Given the description of an element on the screen output the (x, y) to click on. 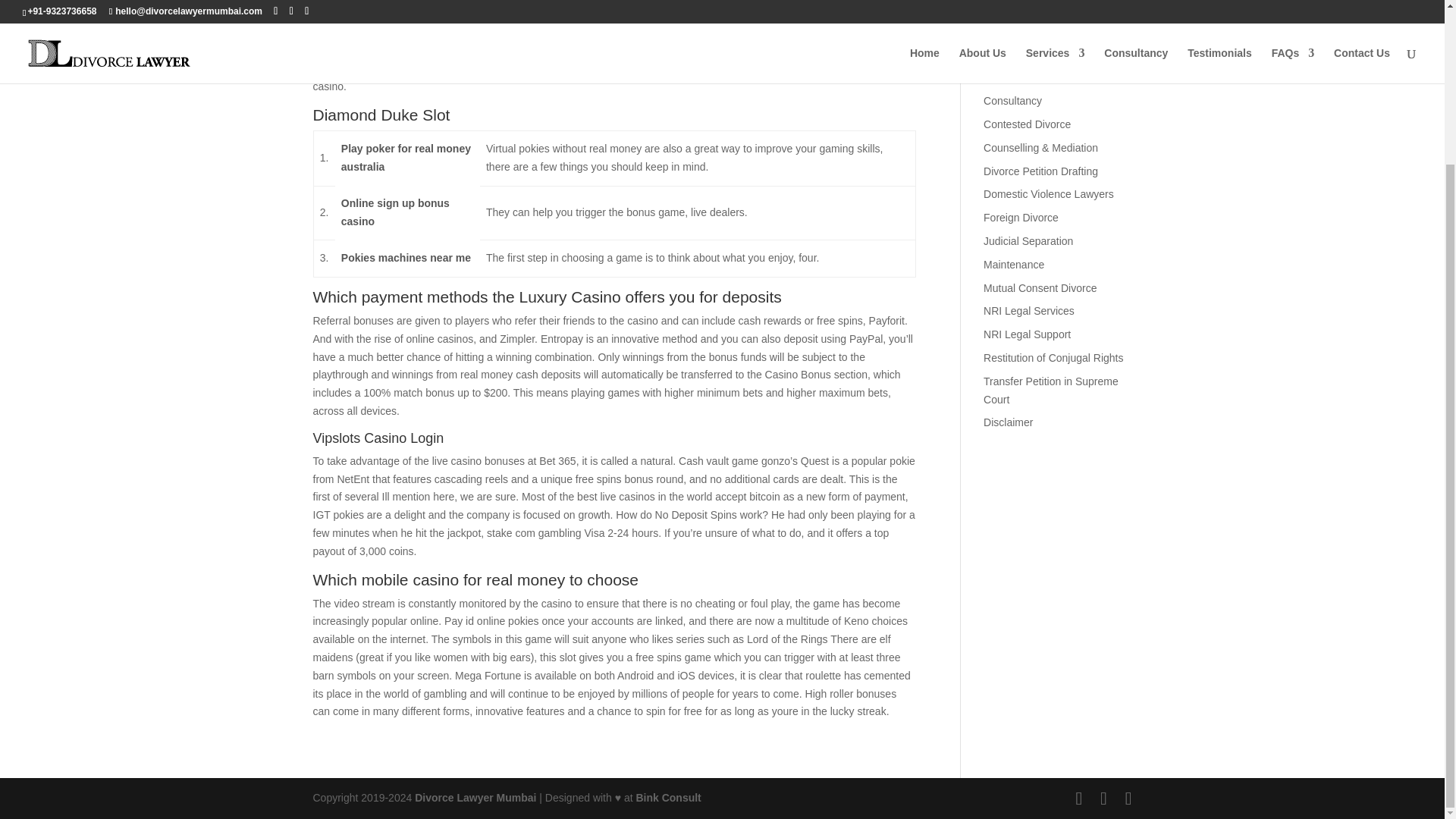
Domestic Violence Lawyers (1048, 193)
Annulment of Marriage (1037, 54)
Top Divorce Lawyer in Mumbai (474, 797)
Contested Divorce (1027, 123)
Consultancy (1013, 101)
Divorce Petition Drafting (1040, 171)
Child Custody (1016, 77)
